Given the description of an element on the screen output the (x, y) to click on. 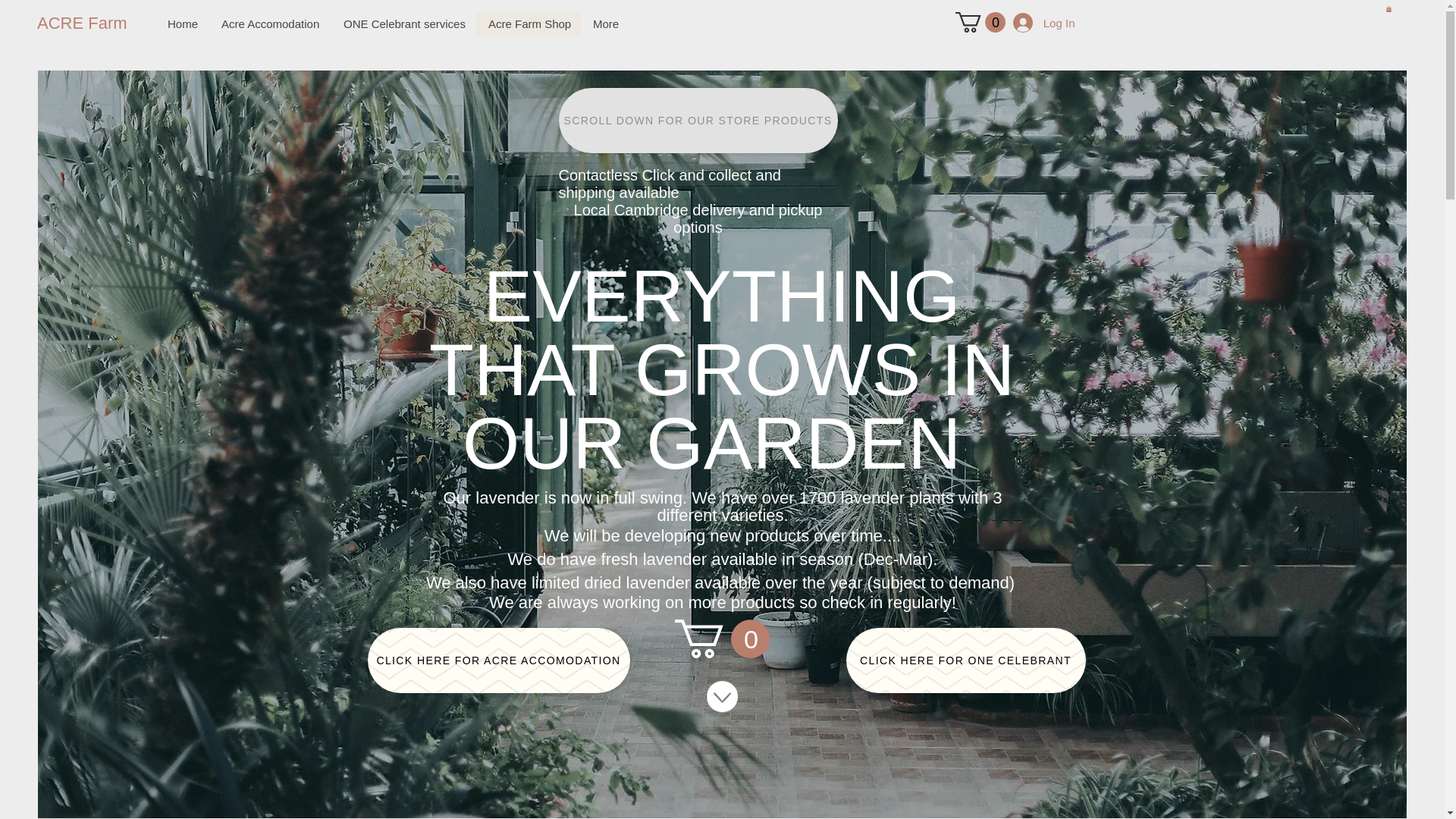
0 (980, 22)
Acre Accomodation (270, 24)
SCROLL DOWN FOR OUR STORE PRODUCTS (697, 120)
CLICK HERE FOR ACRE ACCOMODATION (497, 660)
Log In (1044, 22)
0 (980, 22)
ACRE Farm (88, 23)
Acre Farm Shop (528, 24)
Home (182, 24)
0 (722, 638)
0 (722, 638)
CLICK HERE FOR ONE CELEBRANT (965, 660)
ONE Celebrant services (403, 24)
